Given the description of an element on the screen output the (x, y) to click on. 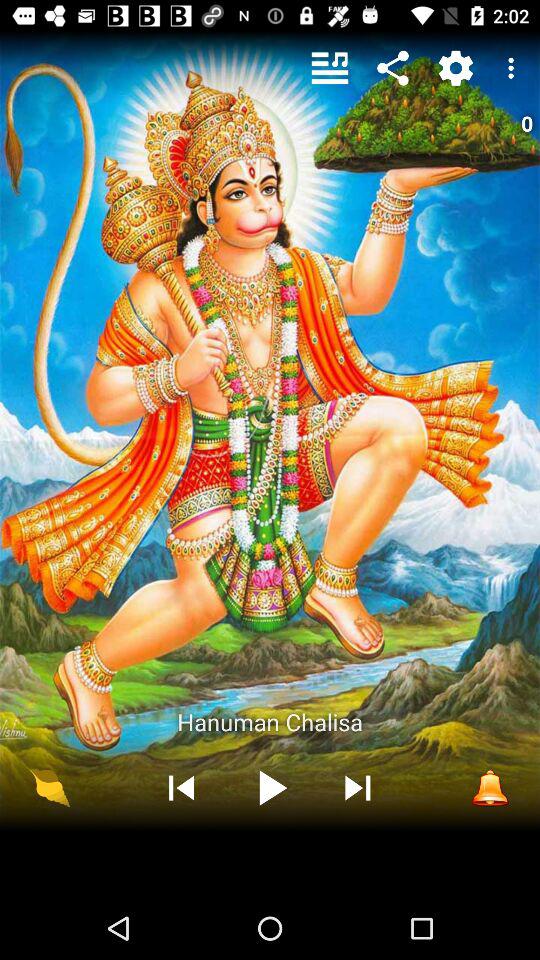
turn on icon below hanuman chalisa item (490, 787)
